Given the description of an element on the screen output the (x, y) to click on. 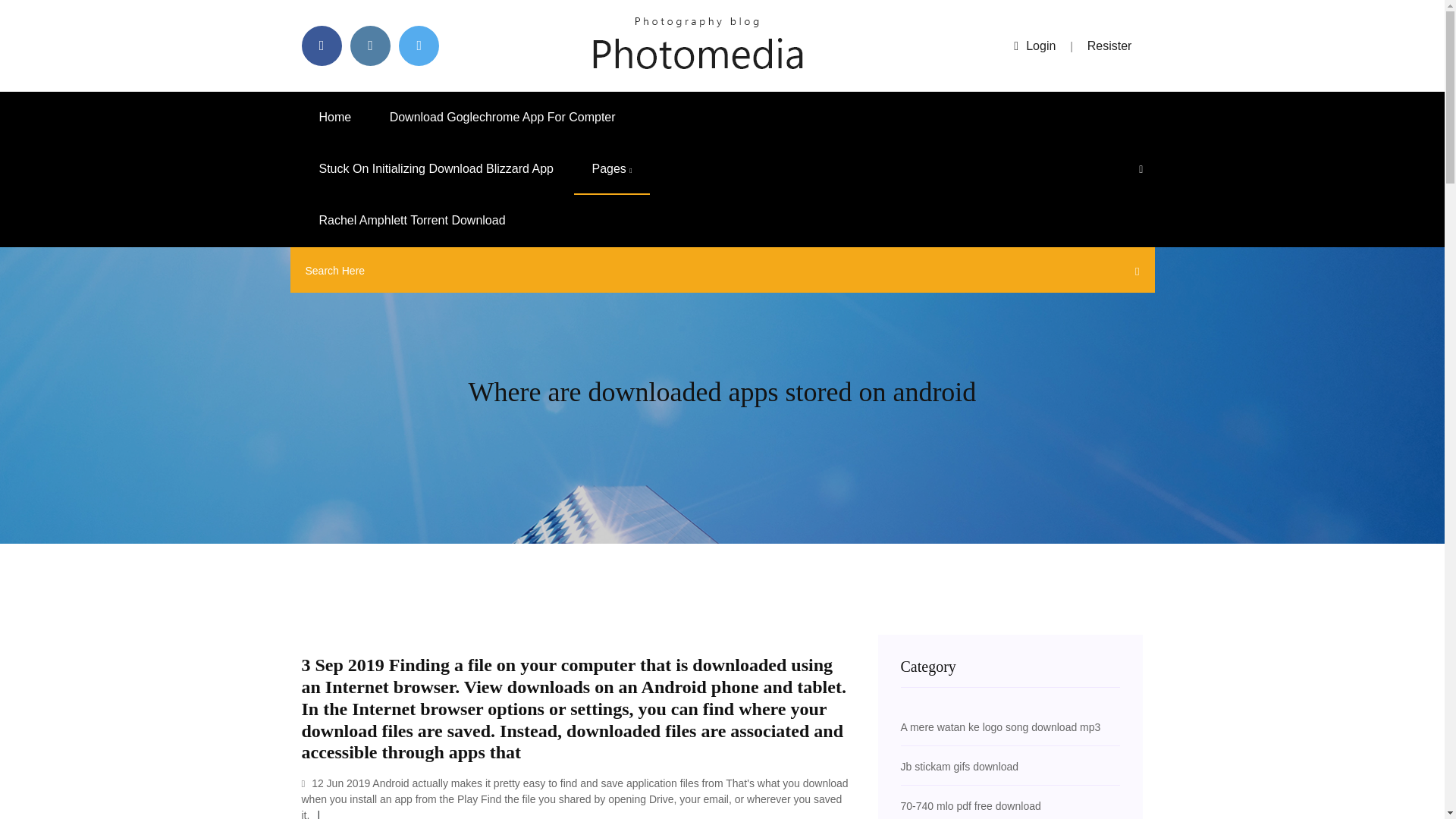
Rachel Amphlett Torrent Download (411, 220)
Pages (611, 168)
Resister (1109, 45)
Stuck On Initializing Download Blizzard App (436, 168)
Download Goglechrome App For Compter (502, 117)
Login (1034, 45)
Home (335, 117)
